Given the description of an element on the screen output the (x, y) to click on. 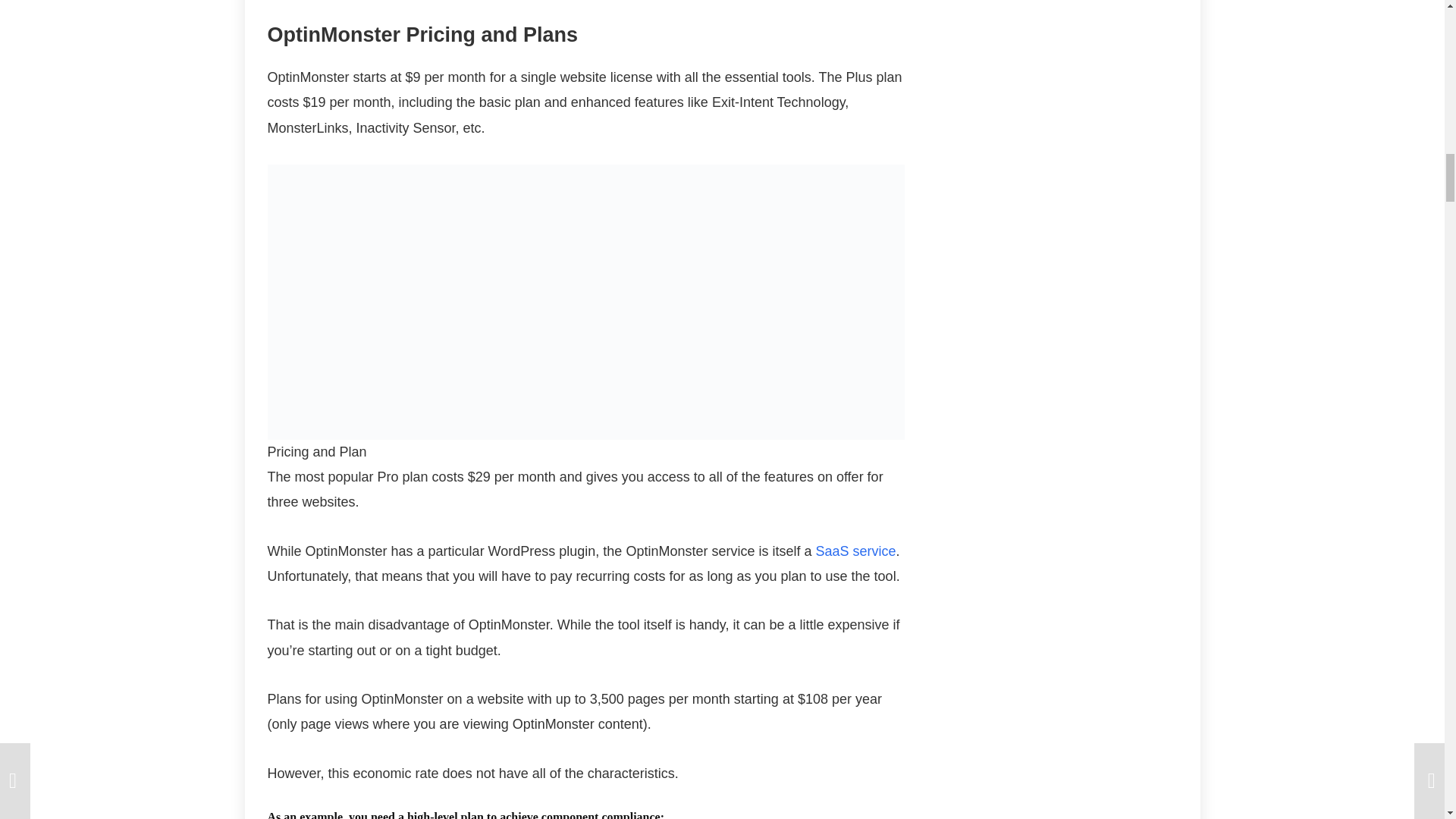
SaaS service (855, 550)
